Given the description of an element on the screen output the (x, y) to click on. 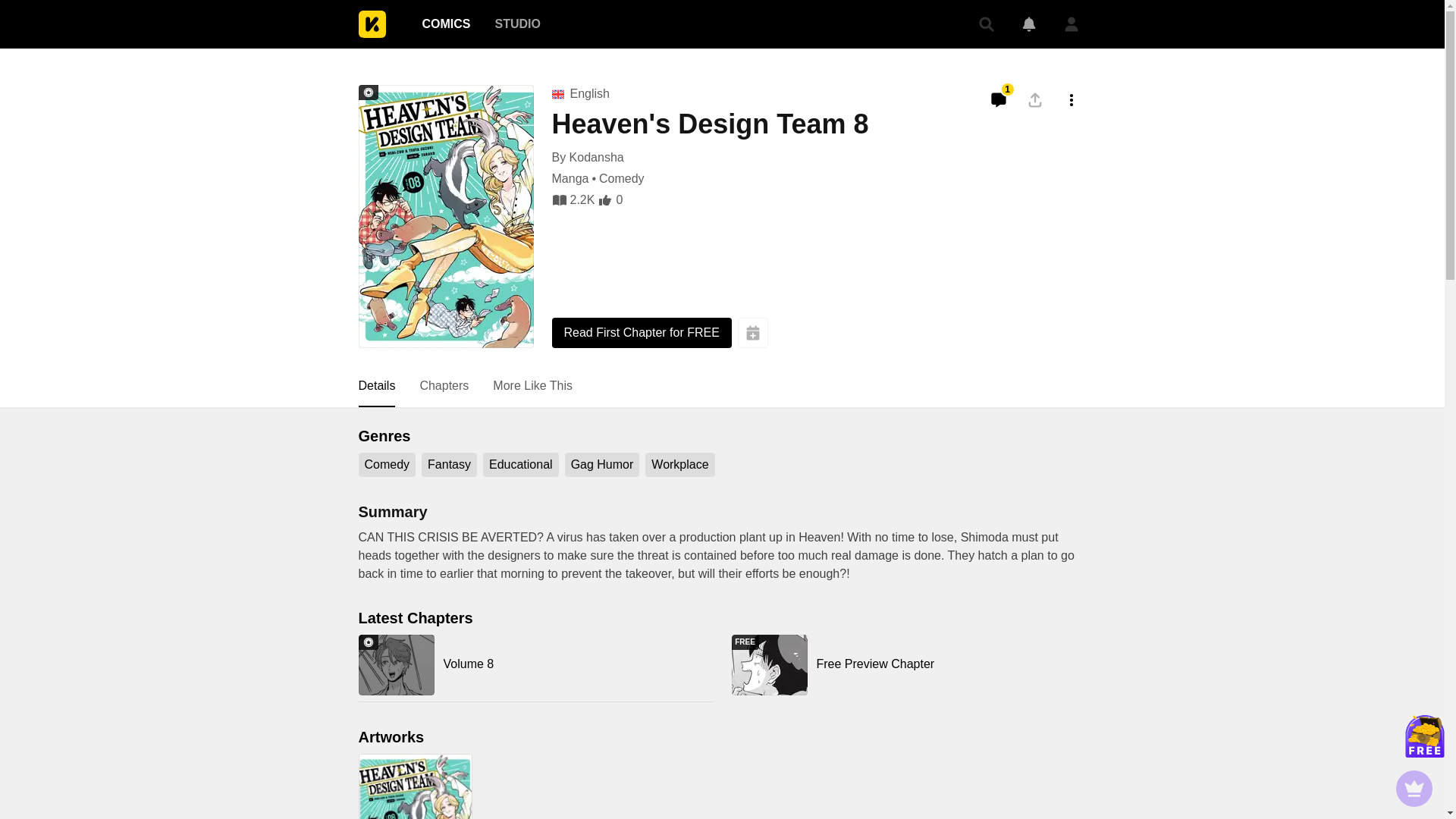
1 (997, 100)
Fantasy (449, 464)
Volume 8 (535, 664)
Comedy (908, 664)
Manga (386, 464)
COMICS (570, 178)
Details (445, 24)
More Like This (376, 386)
STUDIO (532, 386)
Free Preview Chapter (516, 24)
Educational (908, 664)
Chapters (521, 464)
Workplace (443, 386)
Gag Humor (679, 464)
